Given the description of an element on the screen output the (x, y) to click on. 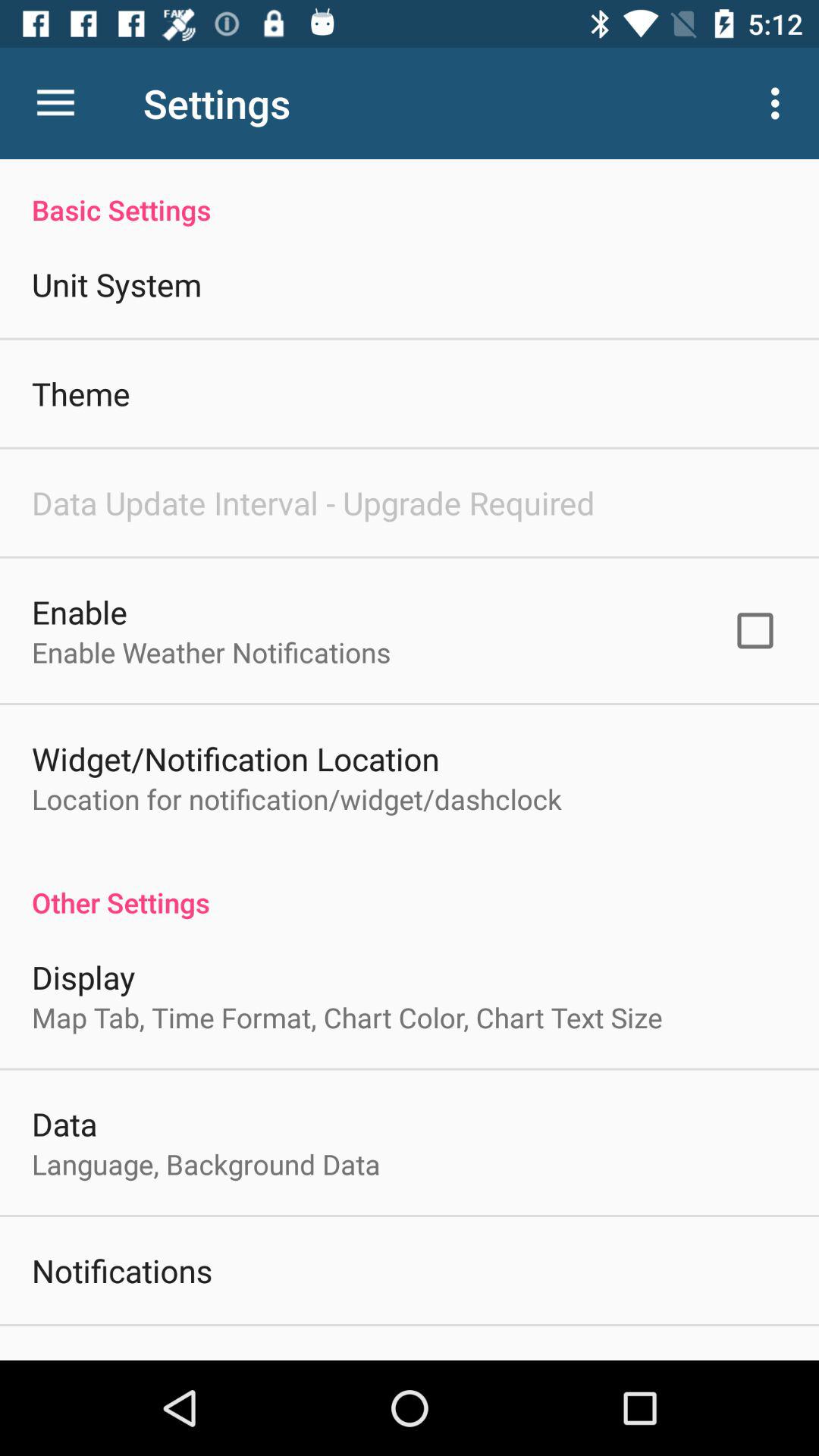
turn off item above map tab time icon (83, 976)
